Given the description of an element on the screen output the (x, y) to click on. 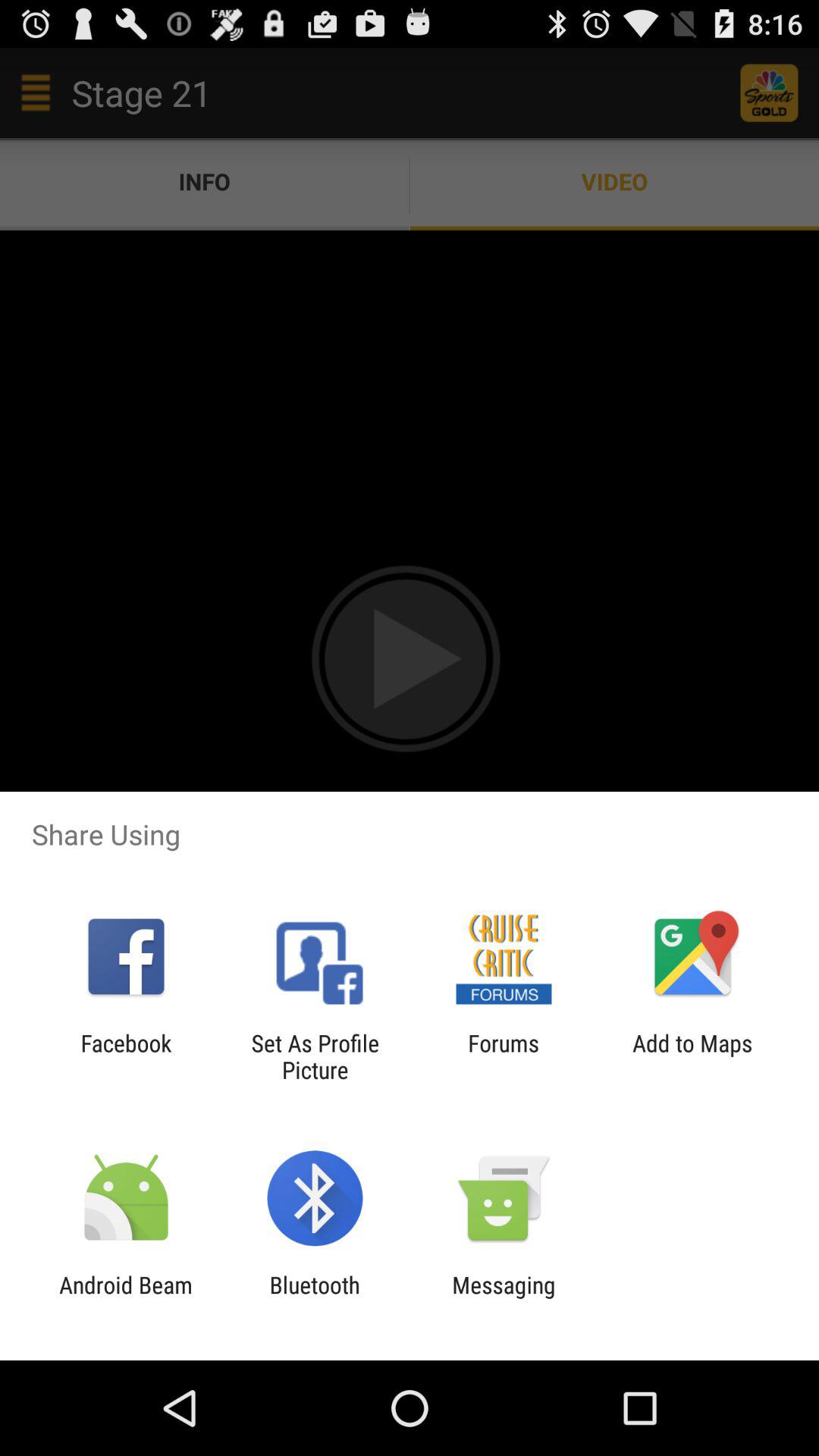
tap the icon to the left of the forums icon (314, 1056)
